Given the description of an element on the screen output the (x, y) to click on. 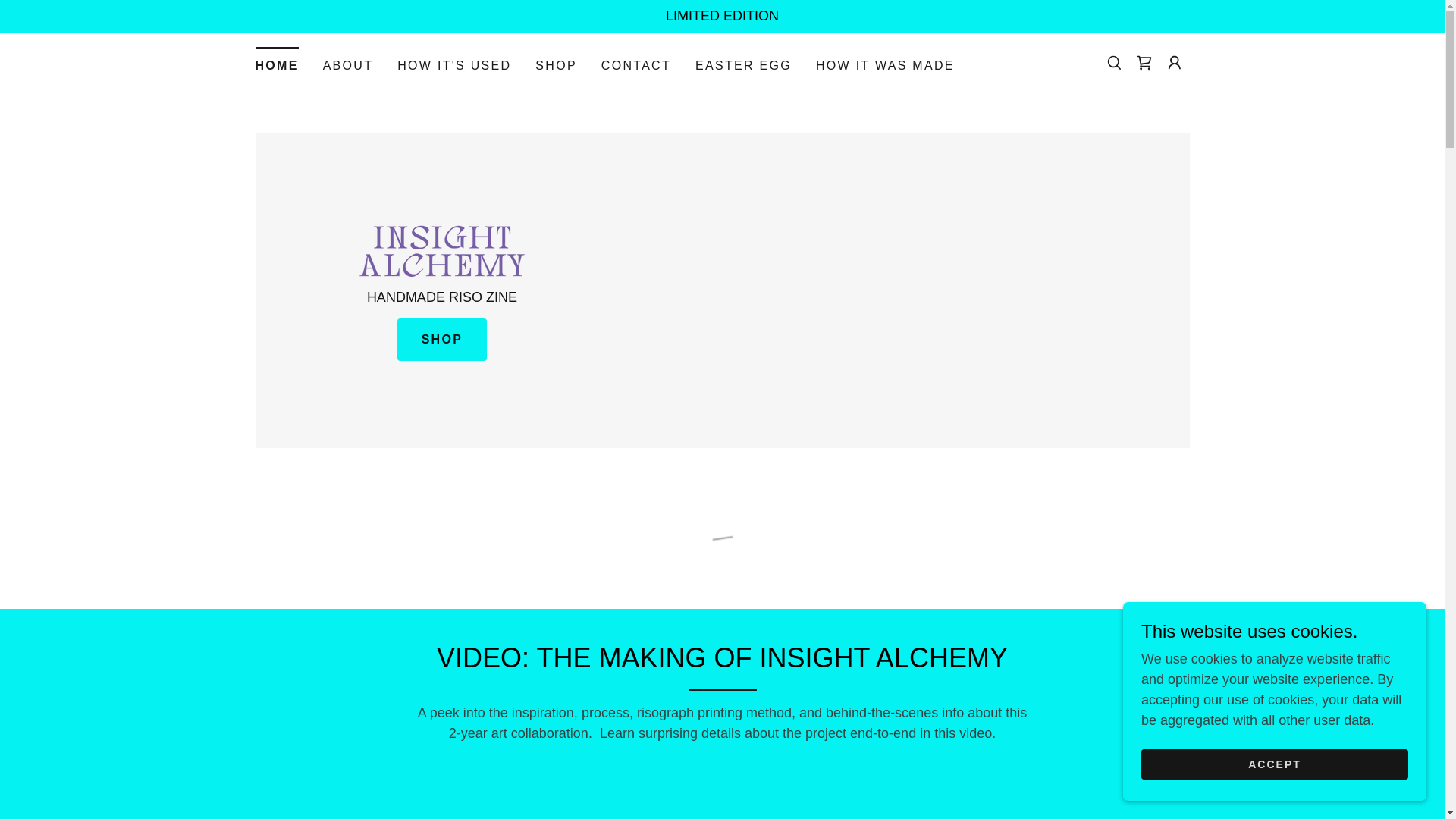
HOME (276, 60)
HOW IT'S USED (454, 65)
CONTACT (635, 65)
HOW IT WAS MADE (884, 65)
ABOUT (348, 65)
SHOP (442, 339)
SHOP (555, 65)
Insight Alchemy (441, 246)
EASTER EGG (743, 65)
